Given the description of an element on the screen output the (x, y) to click on. 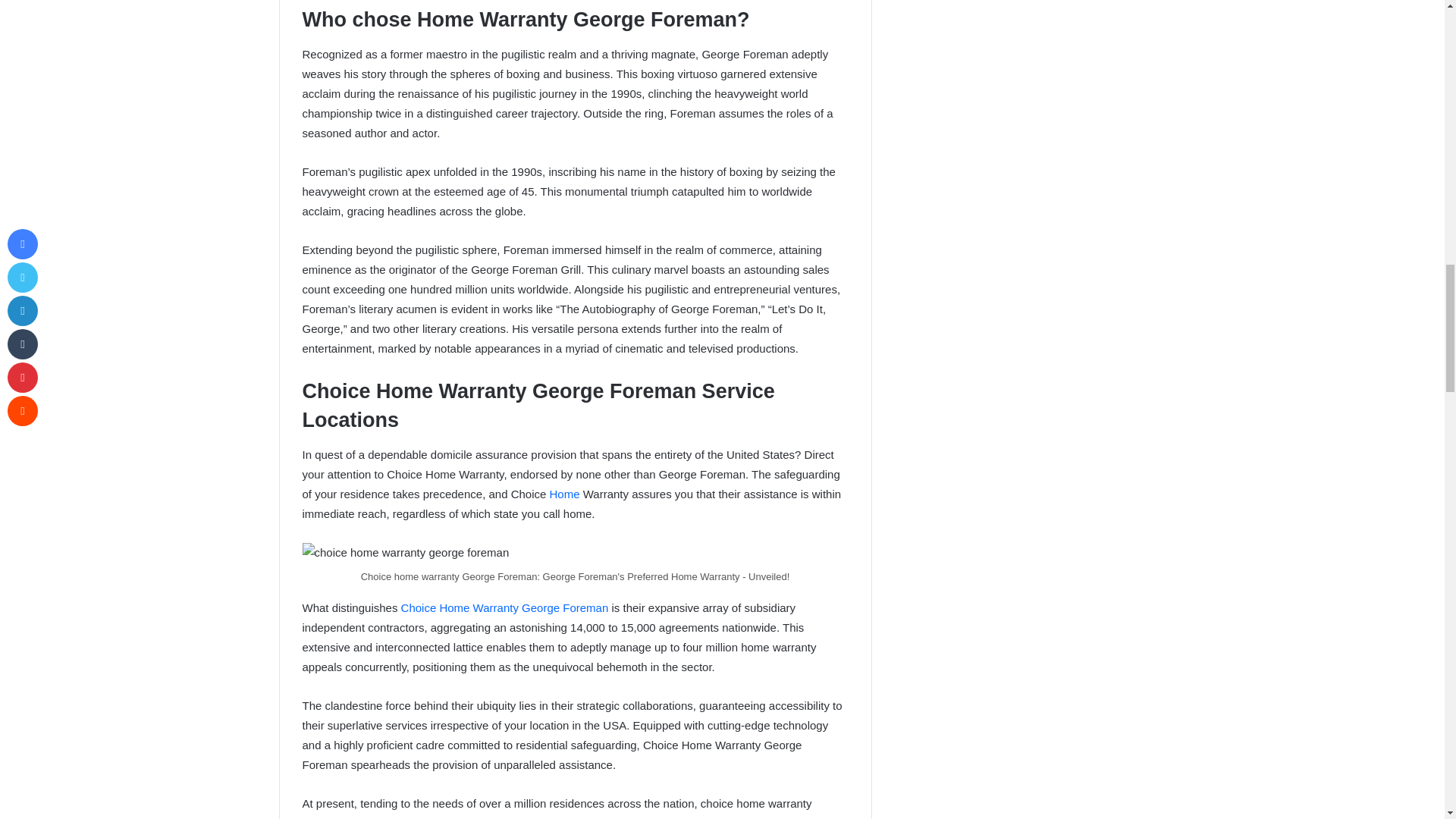
Home (566, 493)
Choice Home Warranty George Foreman (504, 607)
